Given the description of an element on the screen output the (x, y) to click on. 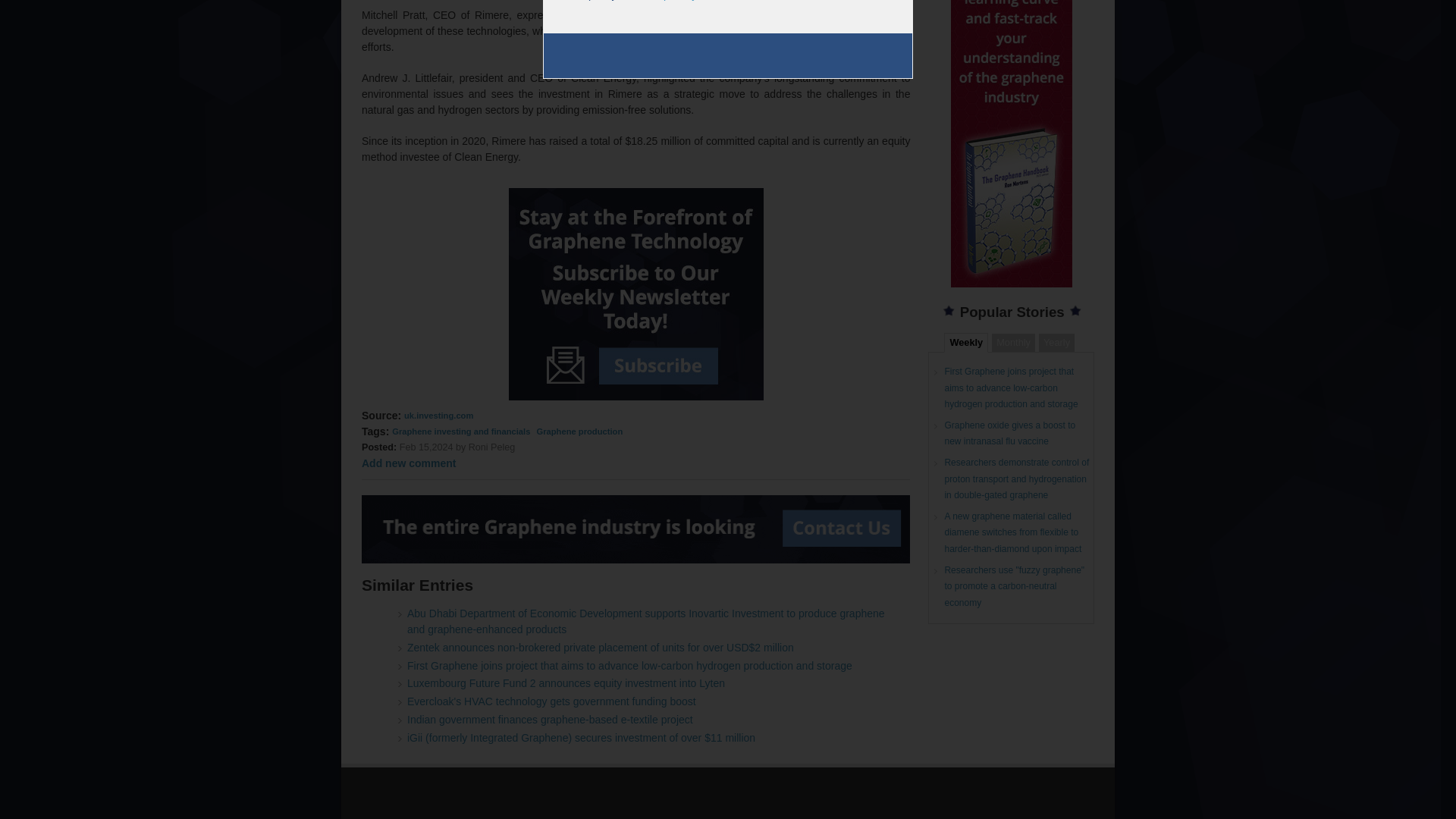
Privacy Policy (665, 0)
